Given the description of an element on the screen output the (x, y) to click on. 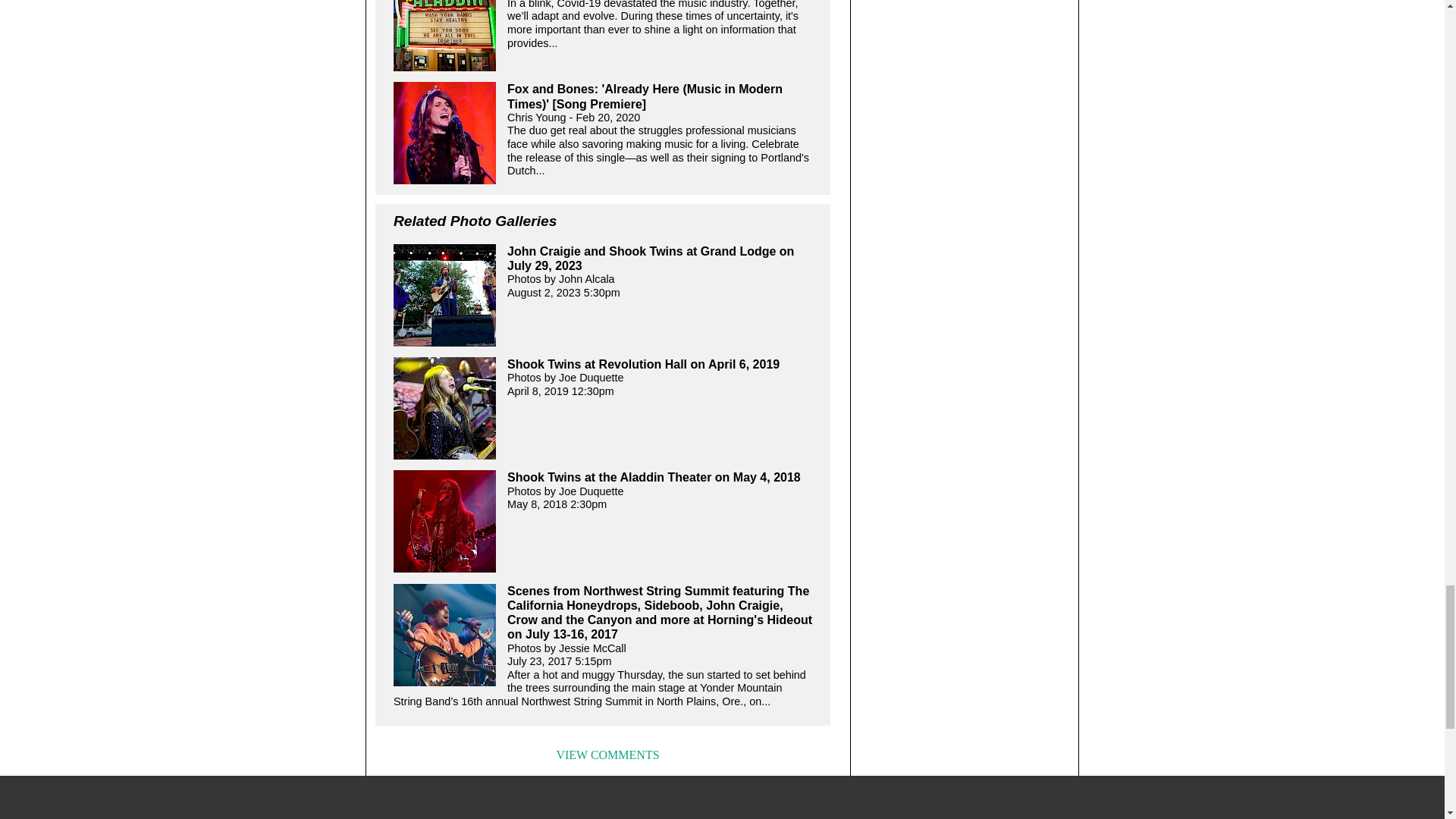
3rd party ad content (721, 799)
